Given the description of an element on the screen output the (x, y) to click on. 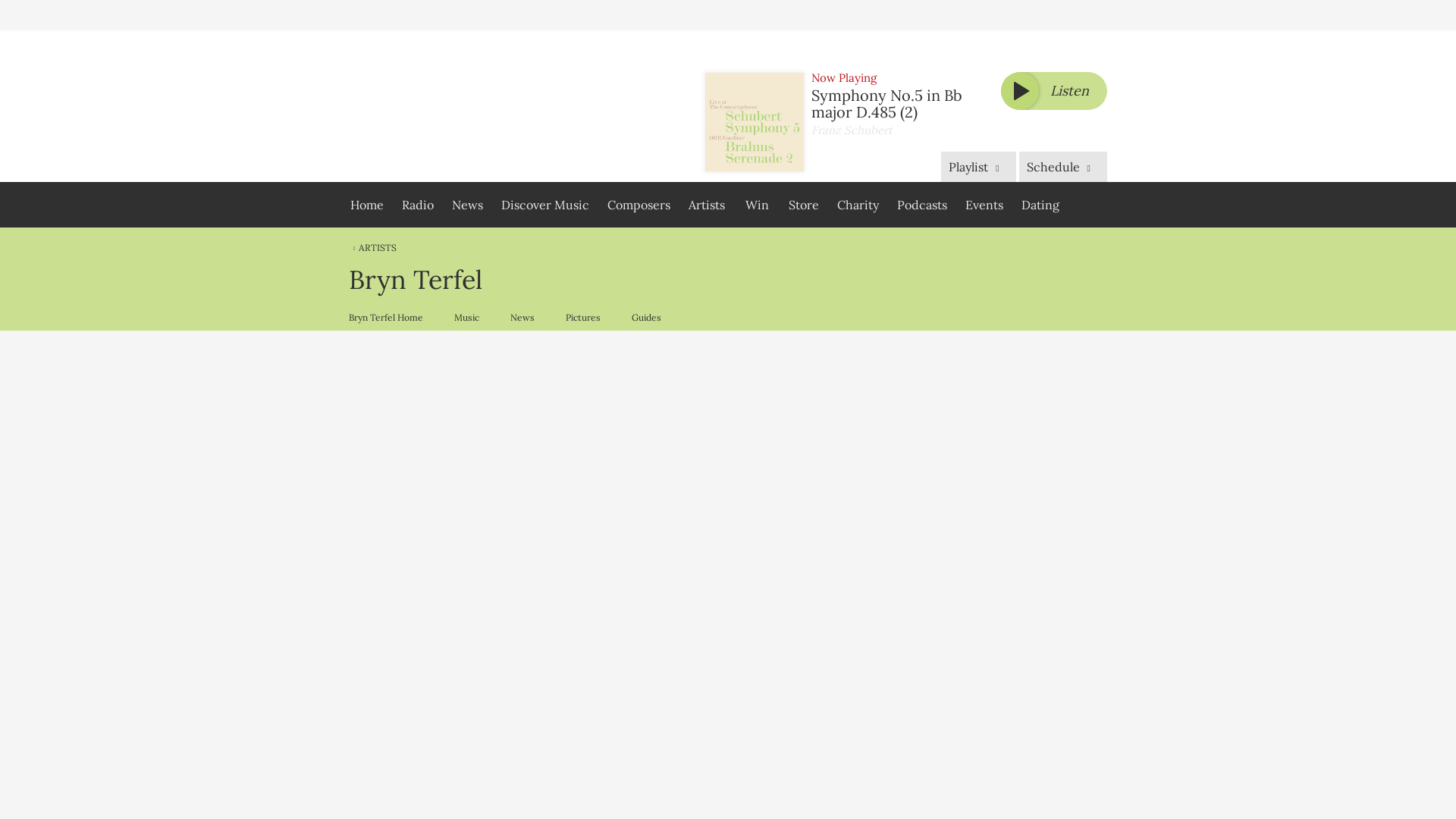
Music (466, 317)
News (467, 204)
Discover Music (545, 204)
Store (803, 204)
Composers (638, 204)
Podcasts (922, 204)
Home (366, 204)
Playlist (977, 166)
Listen (1053, 90)
Classic FM (442, 106)
